Given the description of an element on the screen output the (x, y) to click on. 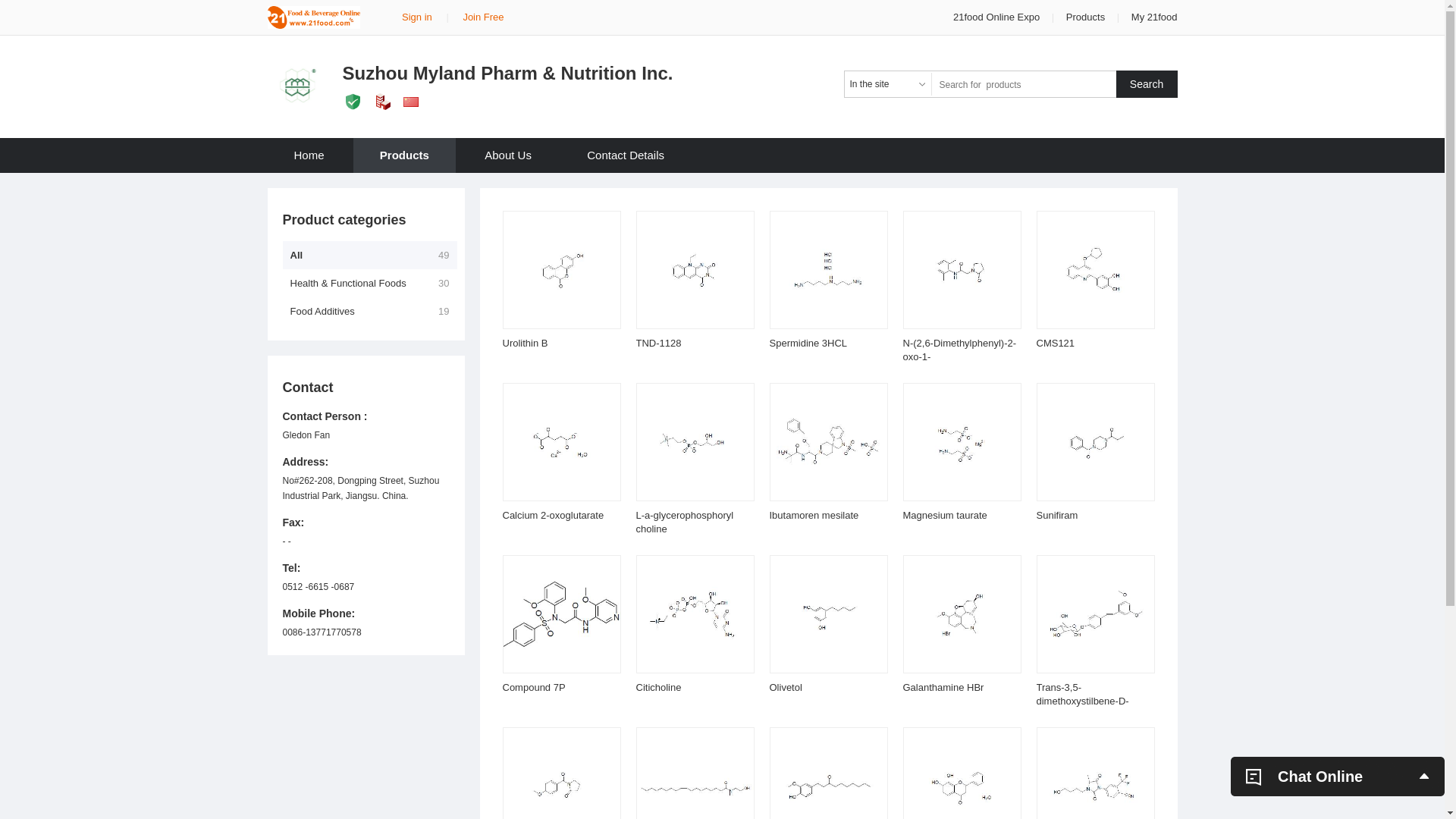
Calcium 2-oxoglutarate Element type: text (552, 514)
N-(2,6-Dimethylphenyl)-2-oxo-1-pyrrolidineacetamide Element type: text (959, 356)
Ibutamoren mesilate Element type: text (813, 514)
Products Element type: text (1085, 16)
CMS121 Element type: text (1054, 342)
My 21food Element type: text (1154, 16)
Galanthamine HBr Element type: text (942, 687)
Magnesium taurate Element type: text (944, 514)
Sunifiram Element type: text (1056, 514)
Trans-3,5-dimethoxystilbene-D-glucopyranoside Element type: text (1081, 700)
Contact Details Element type: text (625, 155)
Products Element type: text (404, 155)
Compound 7P Element type: text (533, 687)
Urolithin B Element type: text (524, 342)
L-a-glycerophosphoryl choline Element type: text (684, 521)
Sign in Element type: text (416, 16)
TND-1128 Element type: text (657, 342)
21food Online Expo Element type: text (997, 16)
Home Element type: text (308, 155)
Citicholine Element type: text (657, 687)
Olivetol Element type: text (784, 687)
Join Free Element type: text (482, 16)
About Us Element type: text (508, 155)
Search Element type: text (1146, 83)
Spermidine 3HCL Element type: text (807, 342)
